Given the description of an element on the screen output the (x, y) to click on. 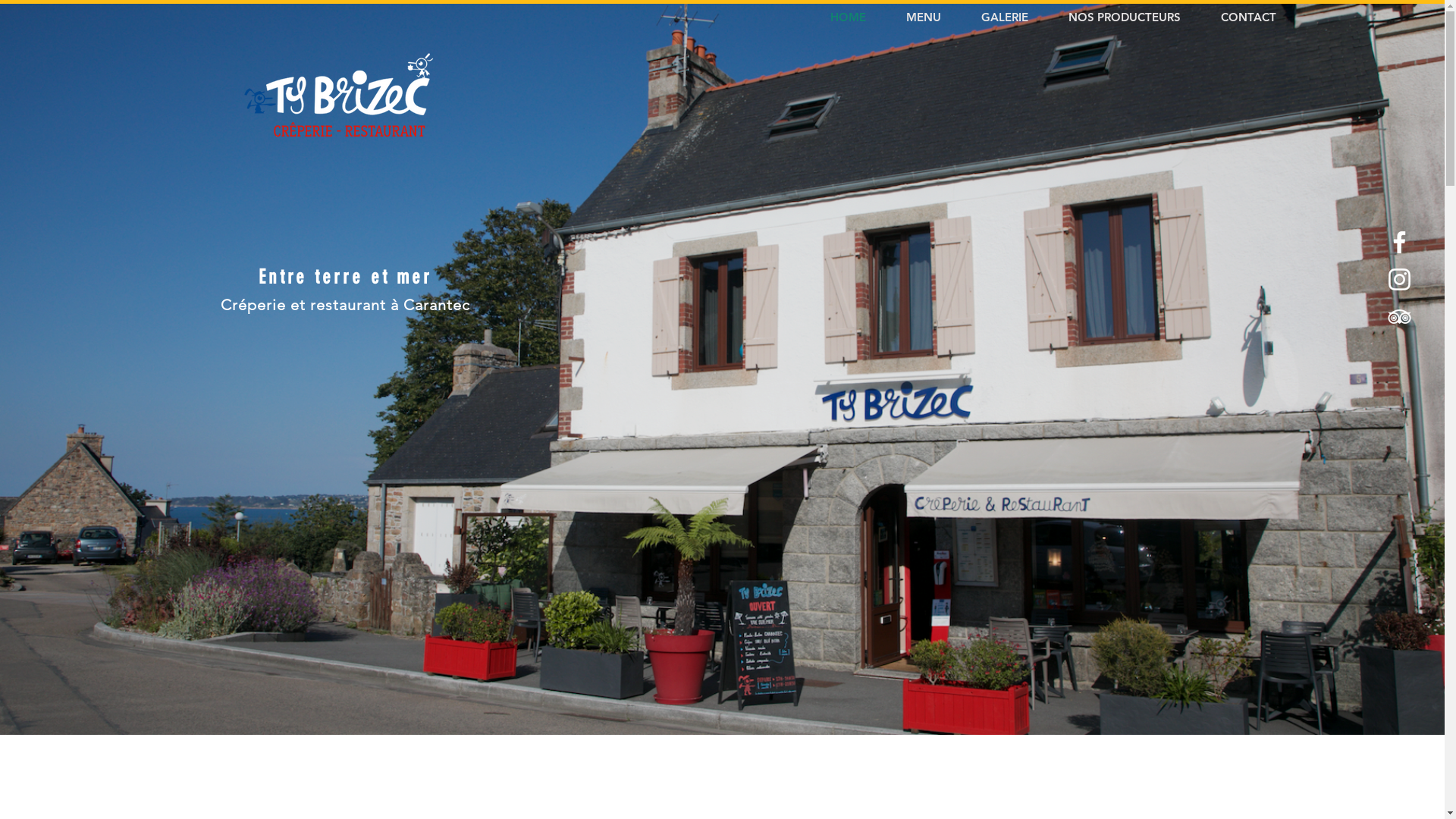
MENU Element type: text (931, 16)
GALERIE Element type: text (1013, 16)
NOS PRODUCTEURS Element type: text (1133, 16)
CONTACT Element type: text (1256, 16)
HOME Element type: text (856, 16)
